Given the description of an element on the screen output the (x, y) to click on. 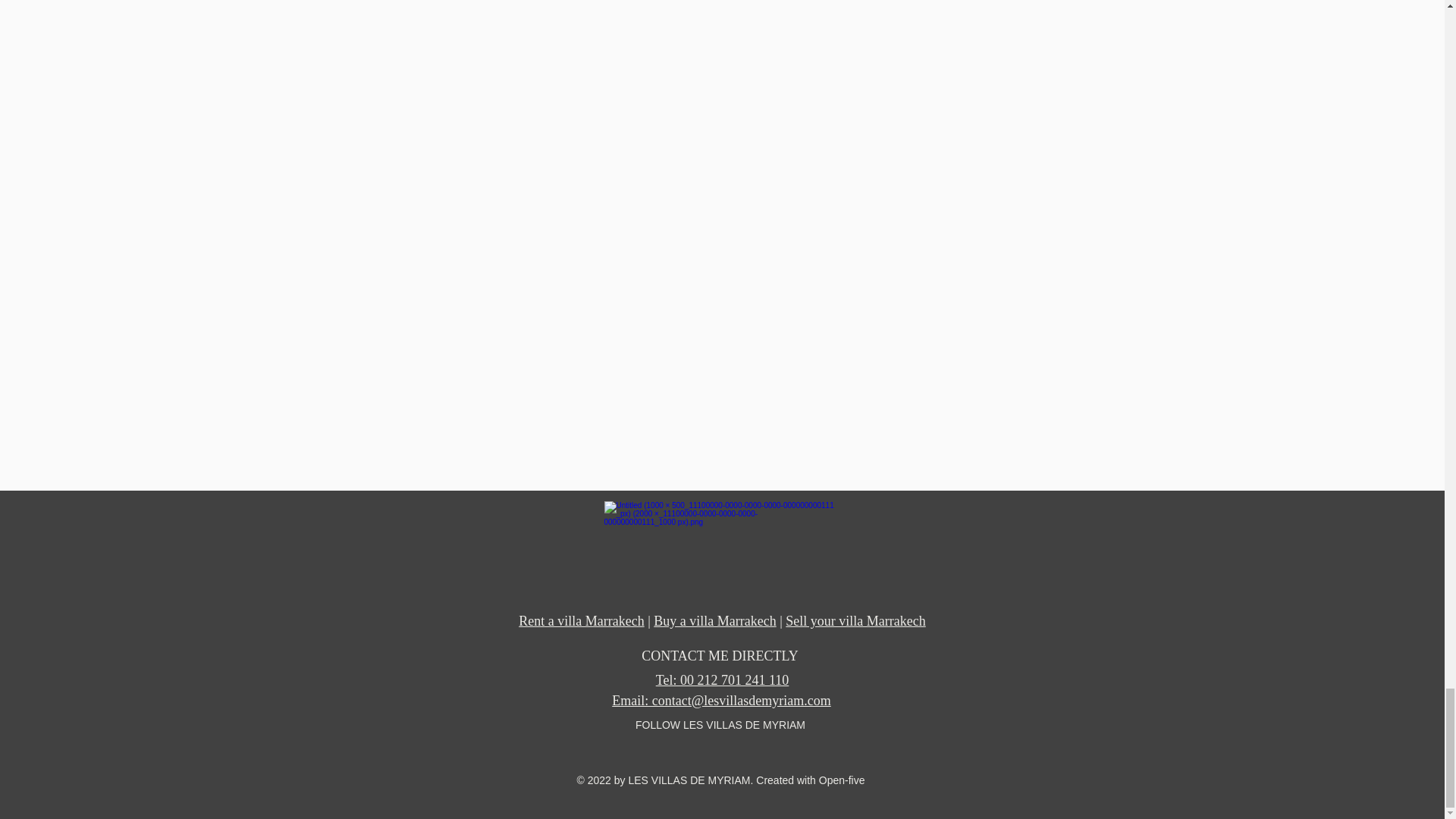
Tel: 00 212 701 241 110 (722, 679)
Sell your villa Marrakech (855, 620)
Buy a villa Marrakech (714, 620)
Rent a villa Marrakech (580, 620)
